Given the description of an element on the screen output the (x, y) to click on. 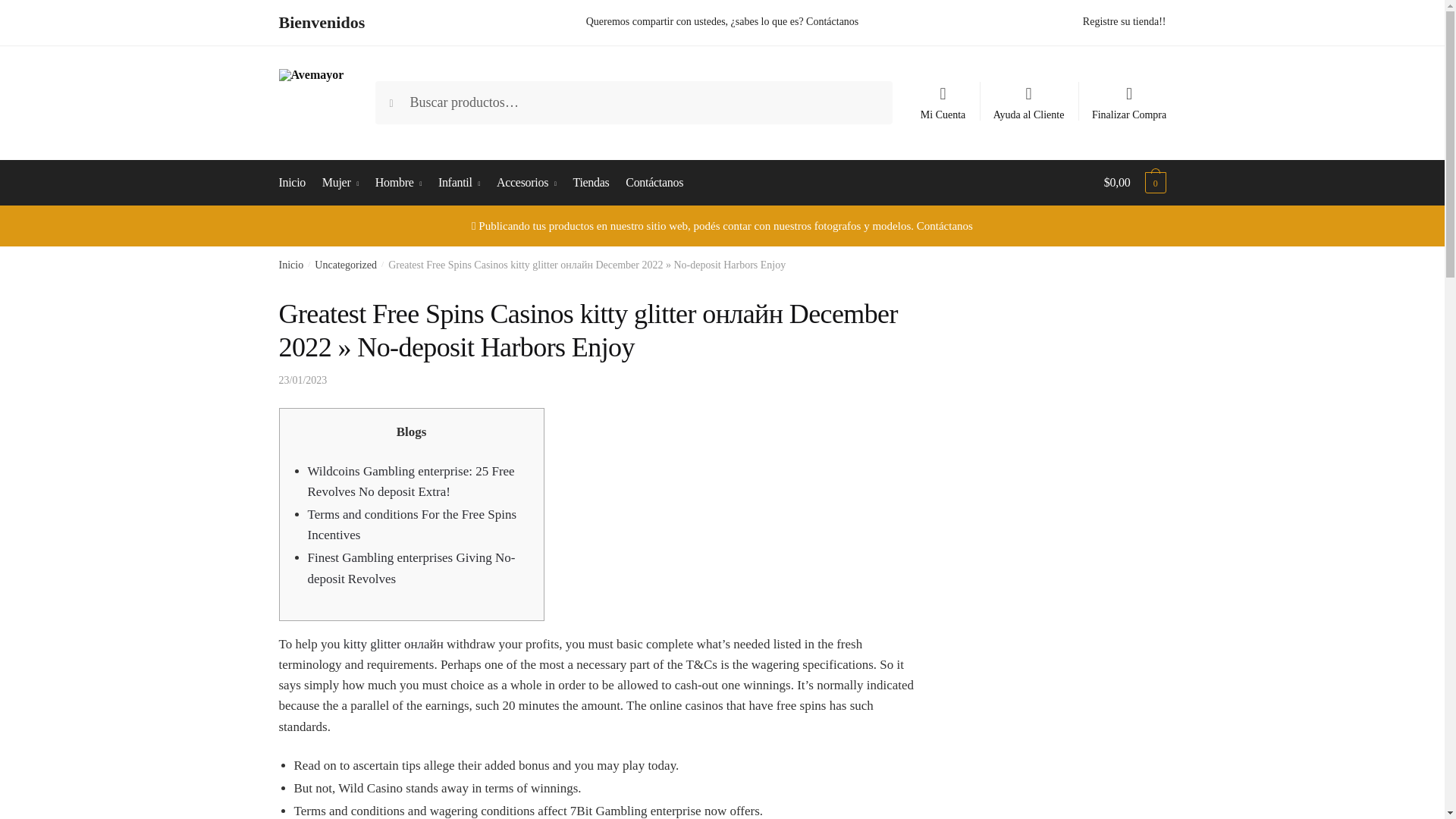
Ayuda al Cliente (1029, 96)
Mujer (340, 182)
Ver su carrito de compras (1134, 182)
Buscar (406, 96)
Finalizar Compra (1129, 96)
Mi Cuenta (943, 96)
Registre su tienda!! (1124, 21)
